Given the description of an element on the screen output the (x, y) to click on. 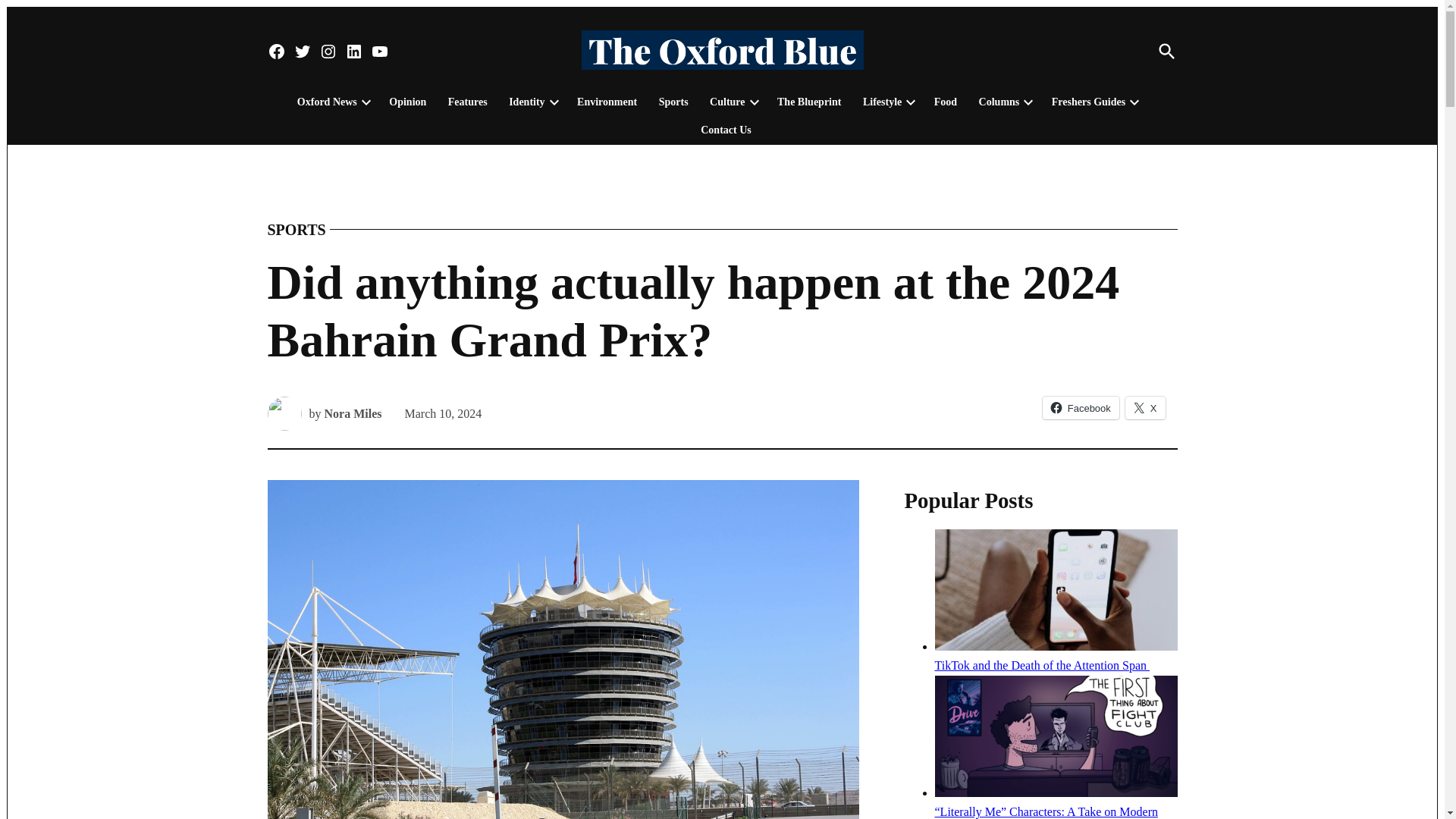
Click to share on X (1145, 407)
Click to share on Facebook (1080, 407)
